Given the description of an element on the screen output the (x, y) to click on. 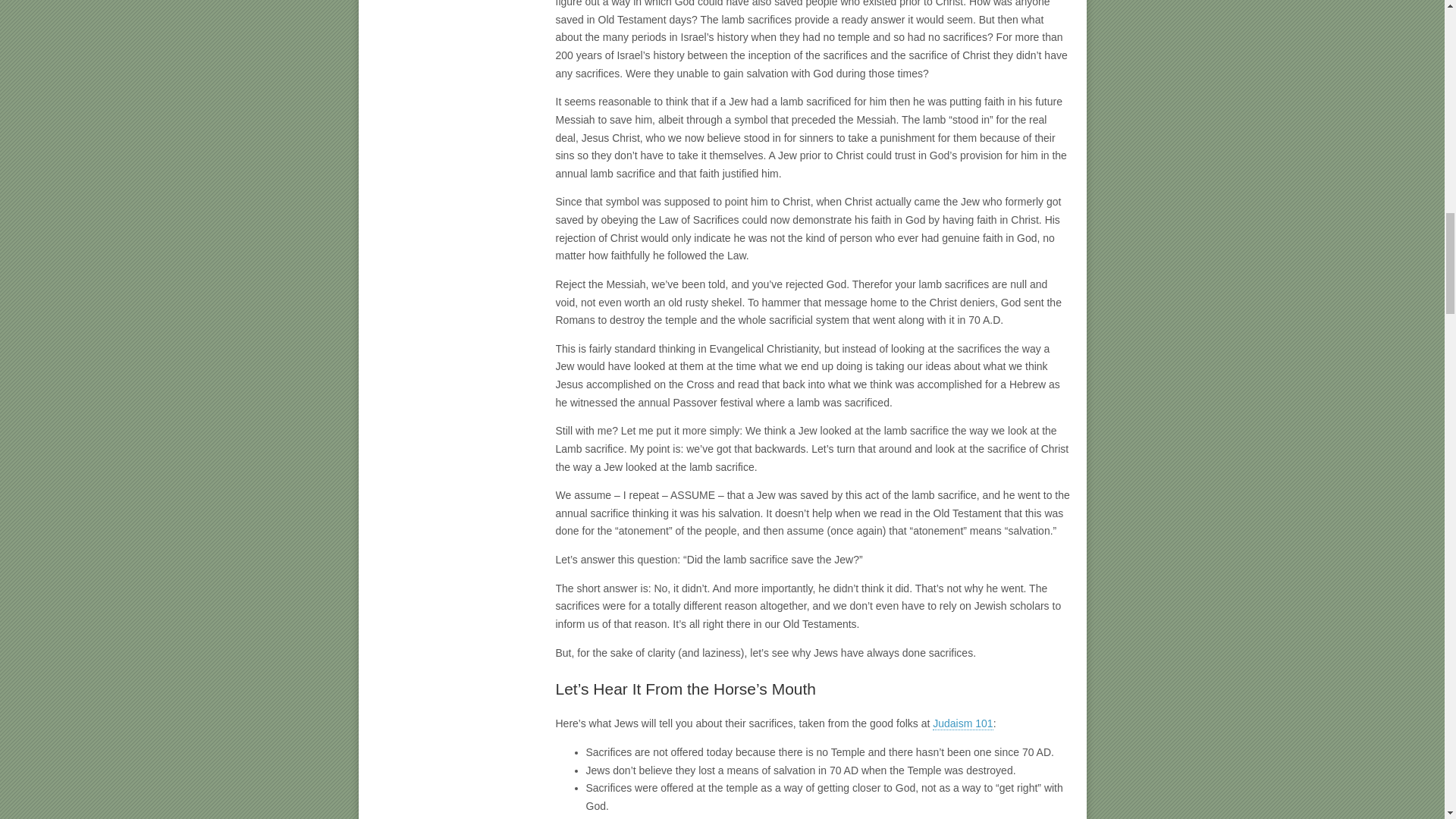
Judaism 101 (962, 723)
